Given the description of an element on the screen output the (x, y) to click on. 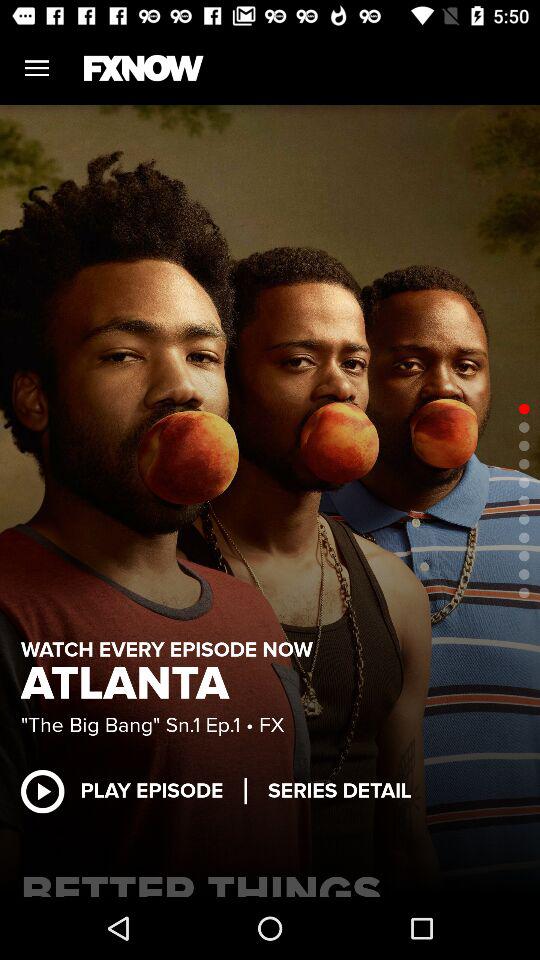
choose better things (270, 880)
